Given the description of an element on the screen output the (x, y) to click on. 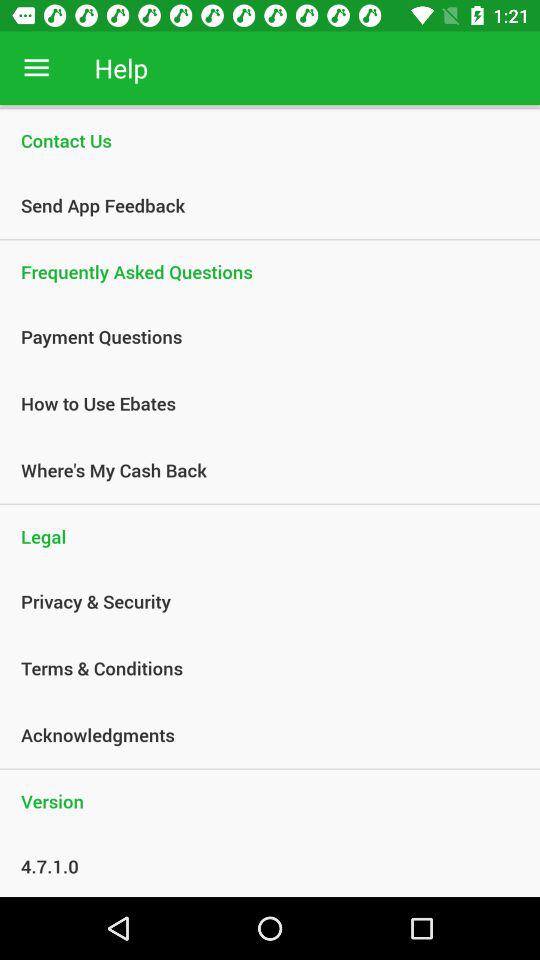
flip until acknowledgments icon (259, 734)
